Given the description of an element on the screen output the (x, y) to click on. 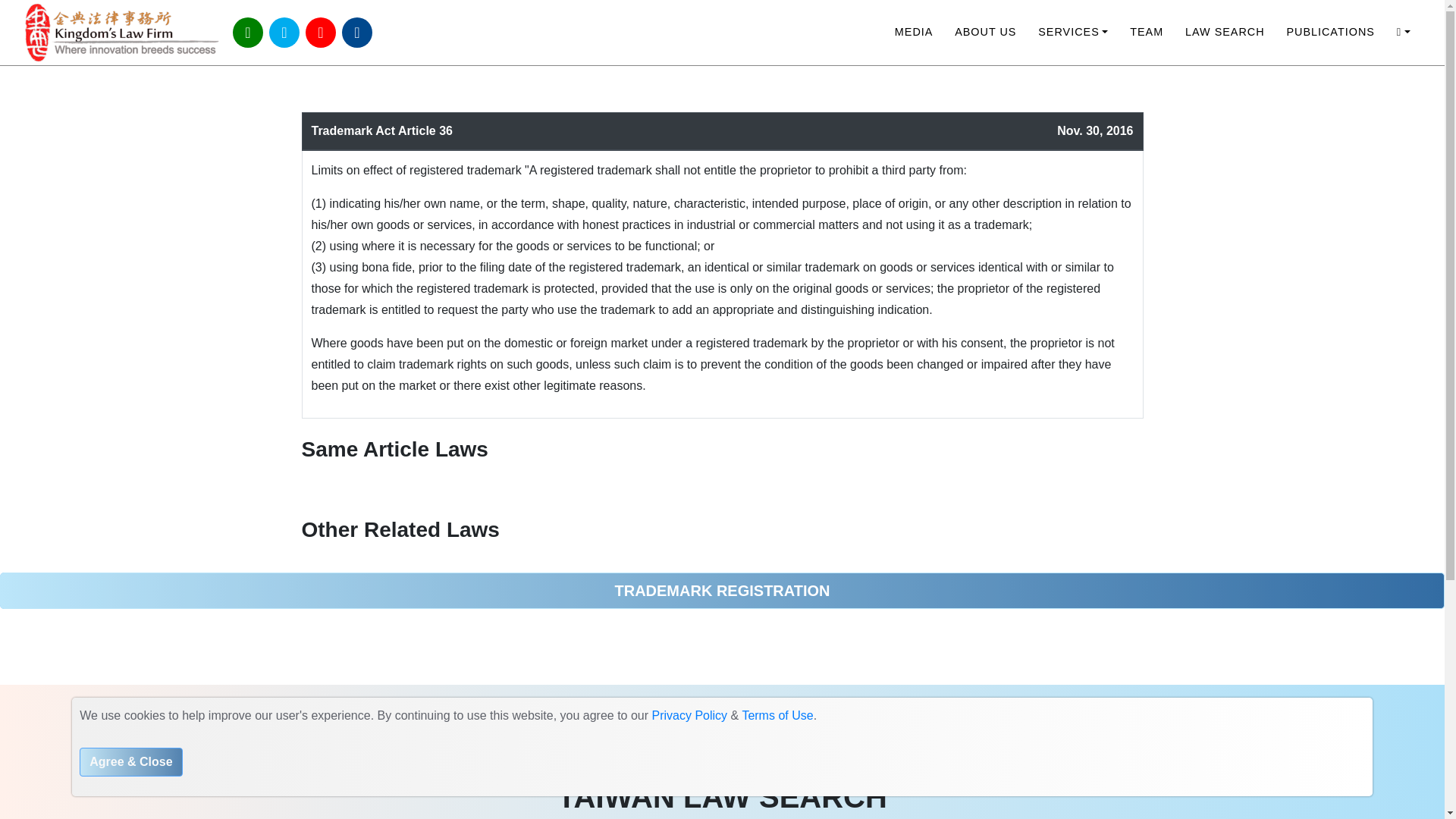
SERVICES (1073, 32)
TEAM (1146, 32)
LAW SEARCH (1224, 32)
ABOUT US (985, 32)
TEAM (1146, 32)
MEDIA (913, 32)
MEDIA (913, 32)
PUBLICATIONS (1330, 32)
LAW SEARCH (1224, 32)
PUBLICATIONS (1330, 32)
